Given the description of an element on the screen output the (x, y) to click on. 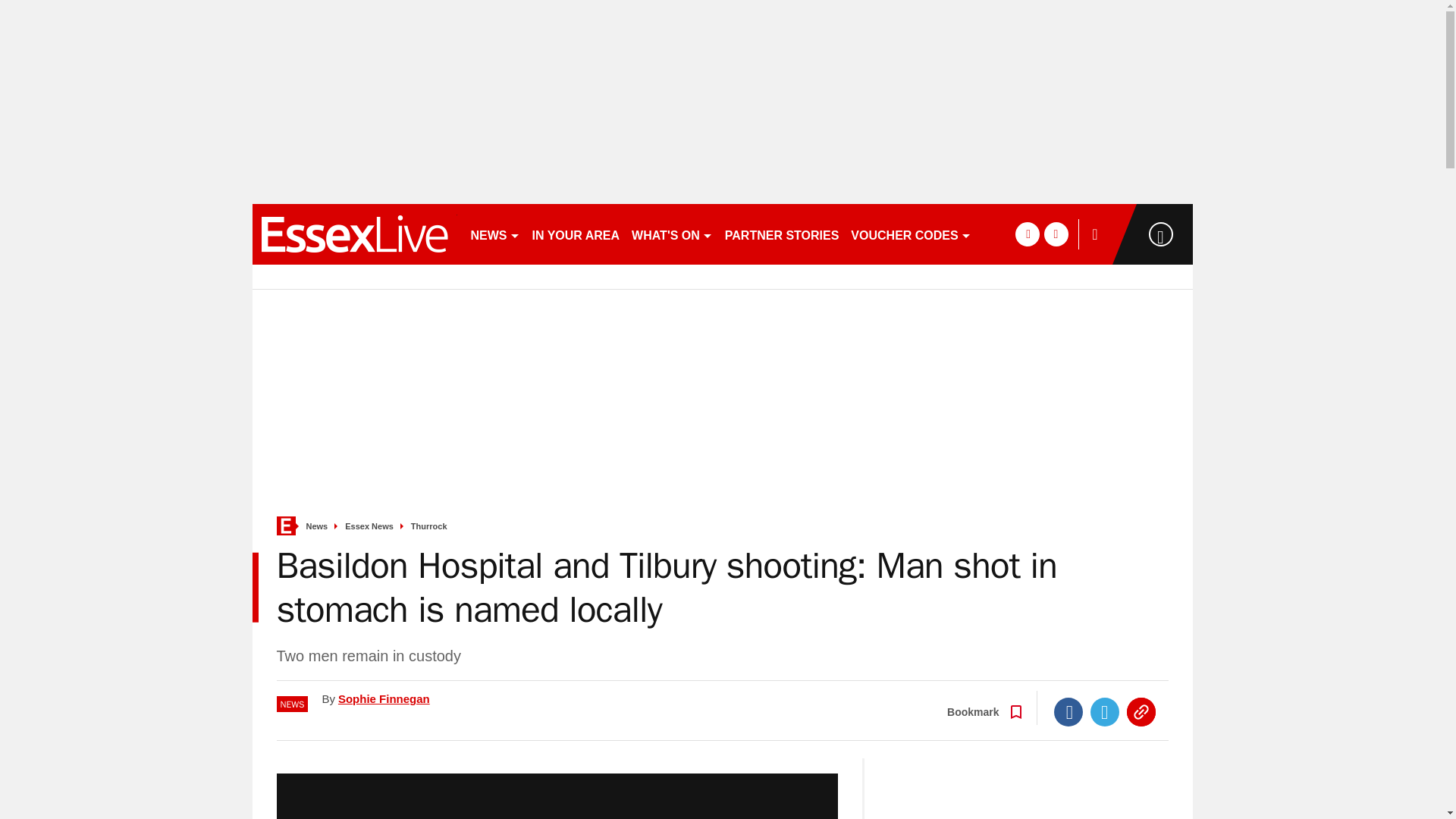
WHAT'S ON (672, 233)
IN YOUR AREA (575, 233)
Twitter (1104, 711)
facebook (1026, 233)
essexlive (354, 233)
twitter (1055, 233)
VOUCHER CODES (910, 233)
Facebook (1068, 711)
NEWS (494, 233)
PARTNER STORIES (782, 233)
